Given the description of an element on the screen output the (x, y) to click on. 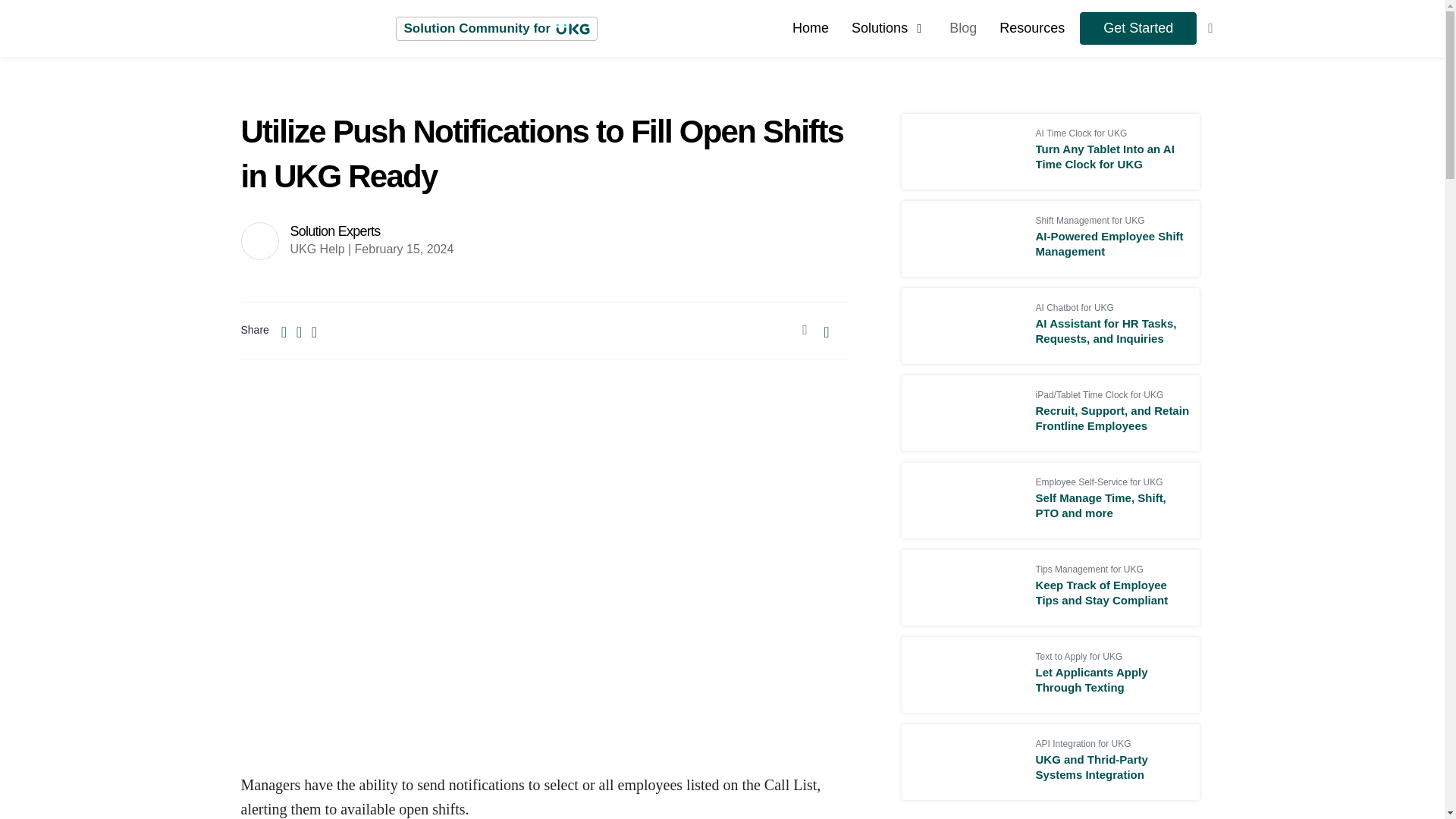
Get Started (1138, 28)
Solutions (888, 27)
CloudApper AI Solutions (888, 27)
CloudApper AI (810, 27)
Blog (962, 27)
Resources (1031, 27)
Home (810, 27)
